Given the description of an element on the screen output the (x, y) to click on. 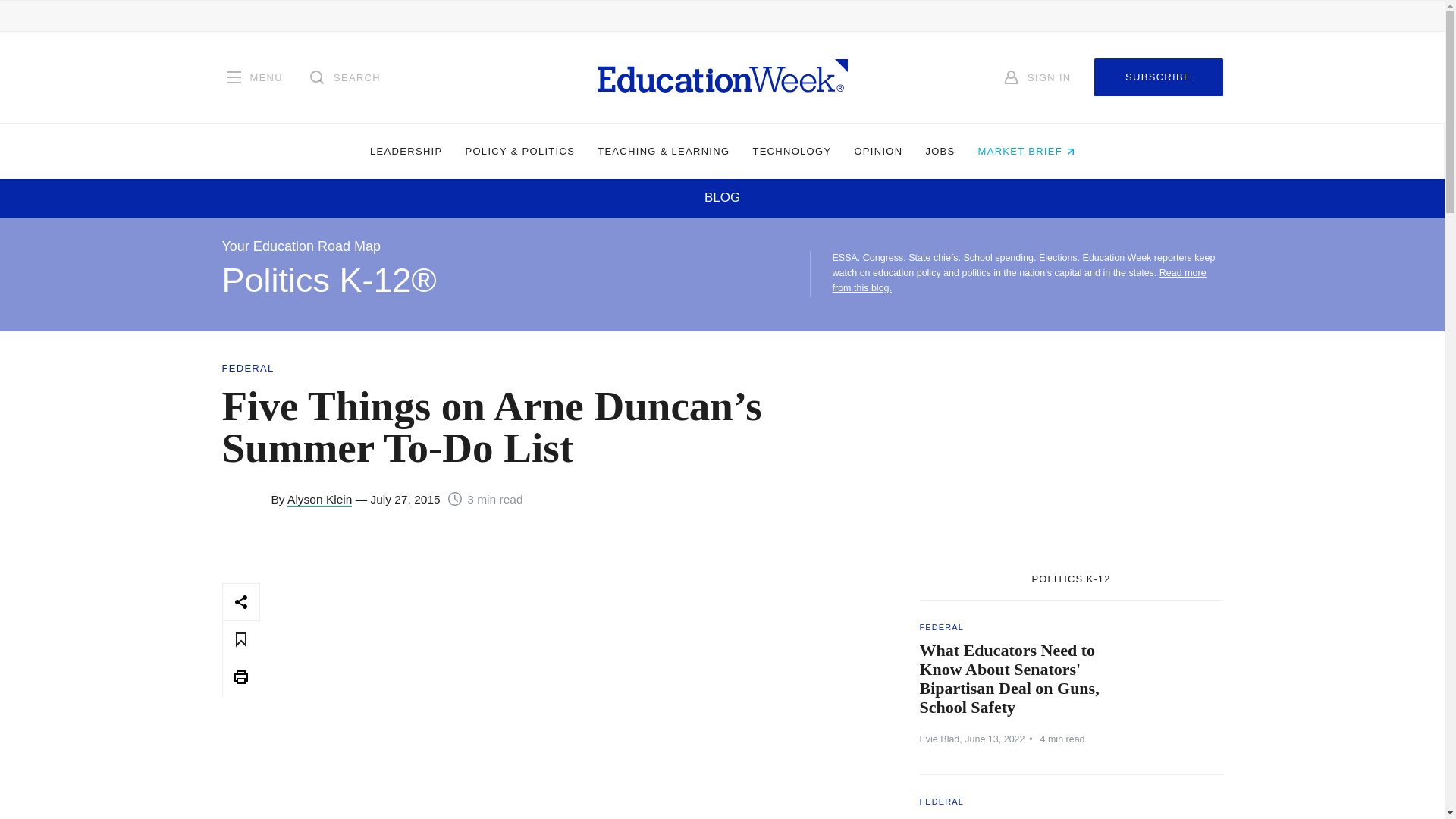
Homepage (721, 76)
